Given the description of an element on the screen output the (x, y) to click on. 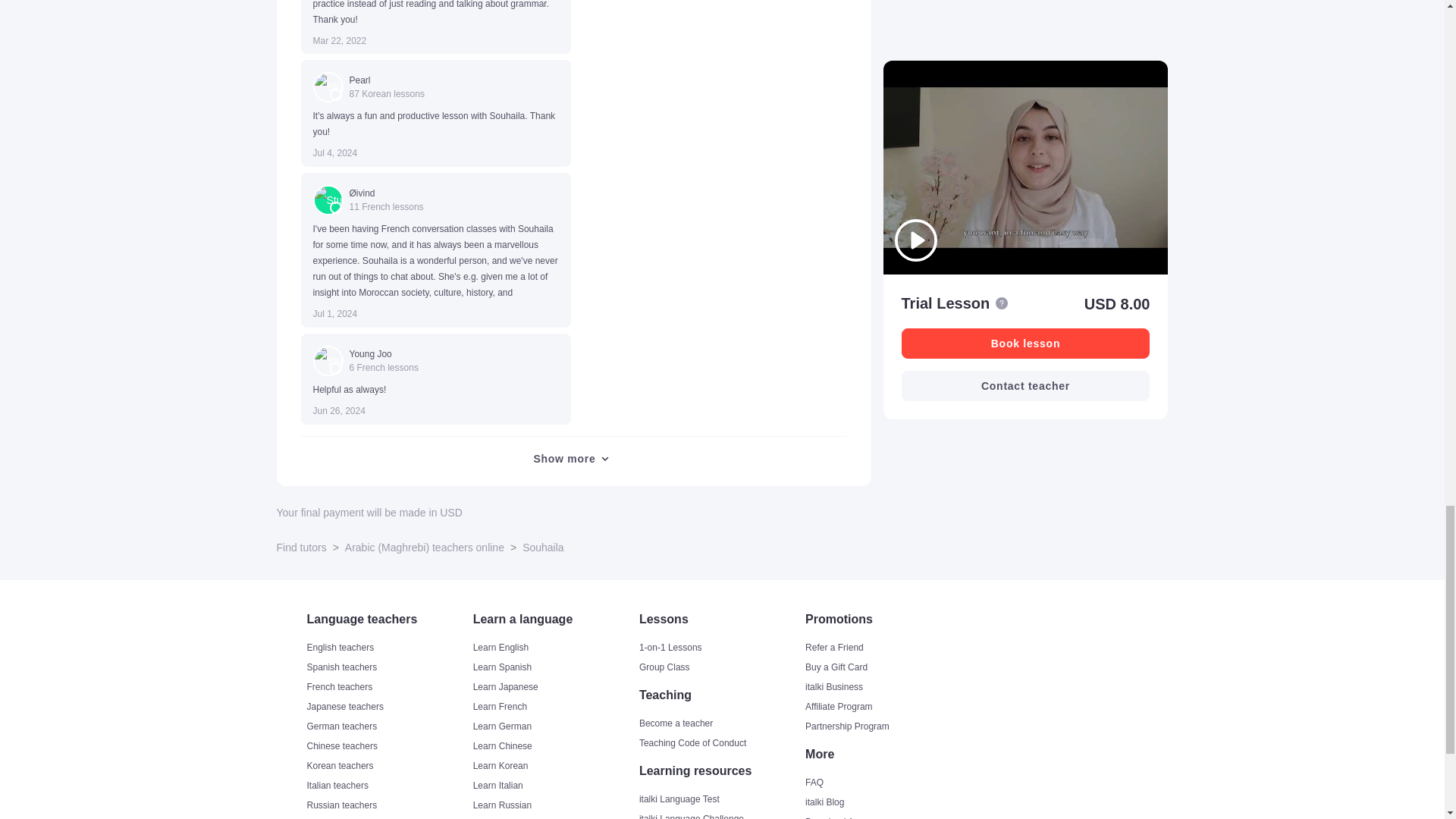
Learn English (554, 647)
Learn German (554, 726)
Russian teachers (386, 805)
Learn Japanese (554, 686)
Learn Italian (554, 785)
Chinese teachers (386, 745)
Japanese teachers (386, 706)
Learn Spanish (554, 667)
Learn Chinese (554, 745)
Learn Russian (554, 805)
